Given the description of an element on the screen output the (x, y) to click on. 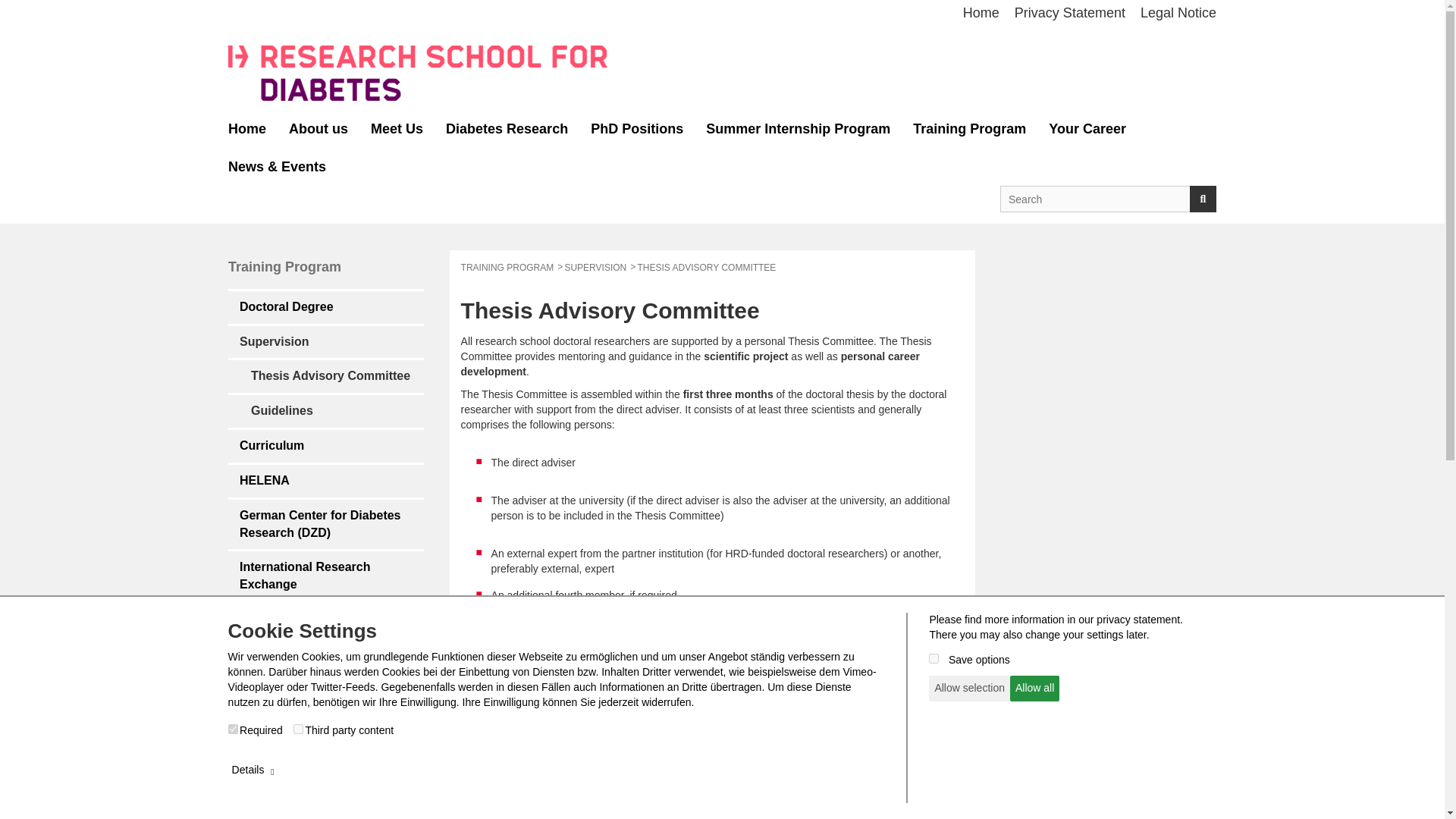
Legal Notice (1173, 13)
lifetime (933, 658)
Home (247, 128)
Diabetes Research (506, 128)
Home (981, 13)
Meet Us (396, 128)
PhD Positions (636, 128)
About us (318, 128)
Summer Internship Program (797, 128)
1 (233, 728)
1 (298, 728)
Privacy Statement (1069, 13)
Training Program (968, 128)
